Given the description of an element on the screen output the (x, y) to click on. 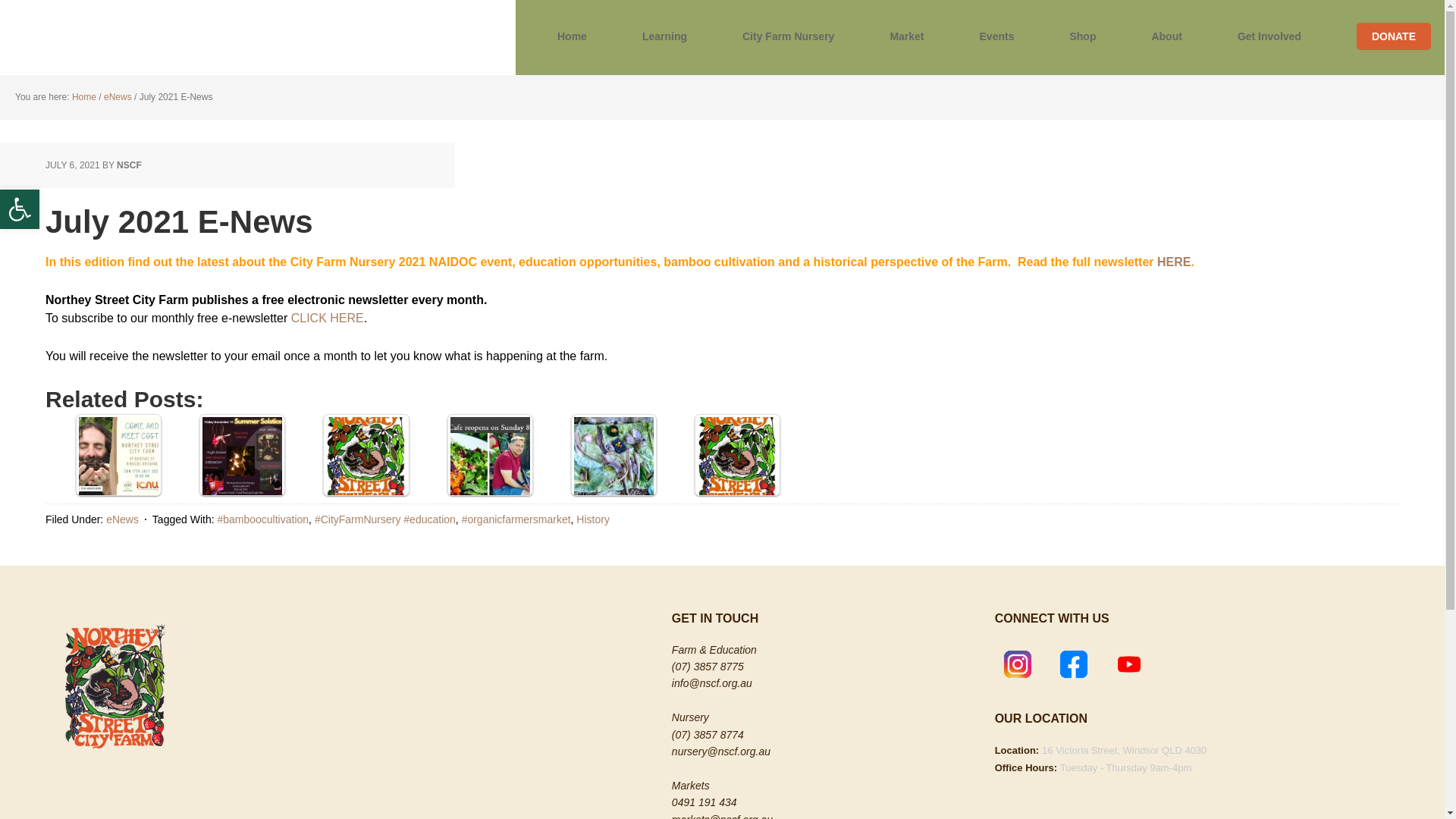
Facebook (1073, 664)
Learning (664, 37)
June E-News (737, 456)
Accessibility Tools (19, 209)
City Farm Nursery (788, 37)
Instagram (1017, 664)
May E-News (489, 456)
July E-News (118, 456)
Accessibility Tools (19, 209)
August E-News (613, 456)
